Given the description of an element on the screen output the (x, y) to click on. 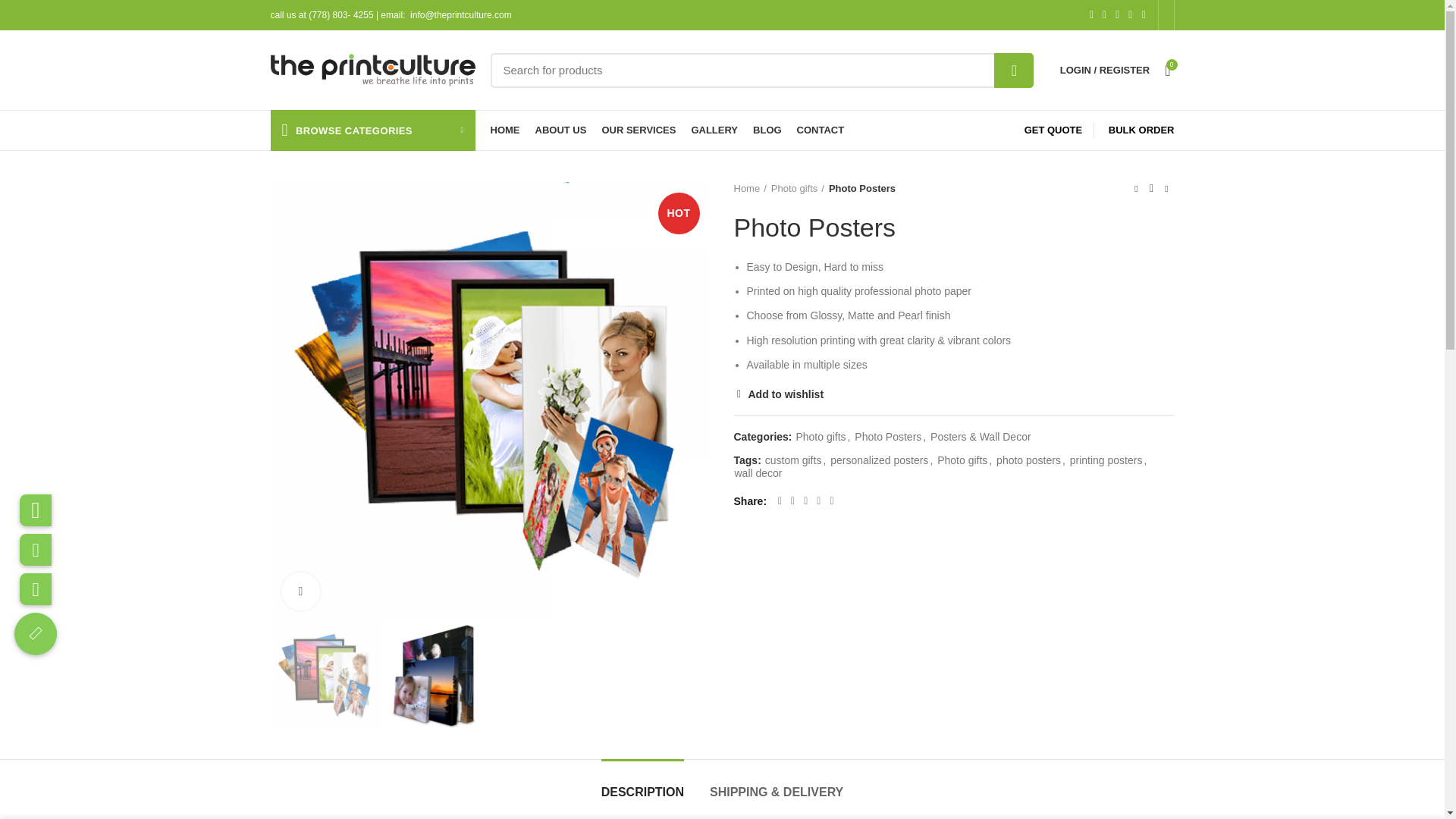
Photo poster 1 (324, 674)
Search for products (760, 70)
My account (1104, 69)
SEARCH (1013, 70)
wall decor 2 (435, 674)
